Given the description of an element on the screen output the (x, y) to click on. 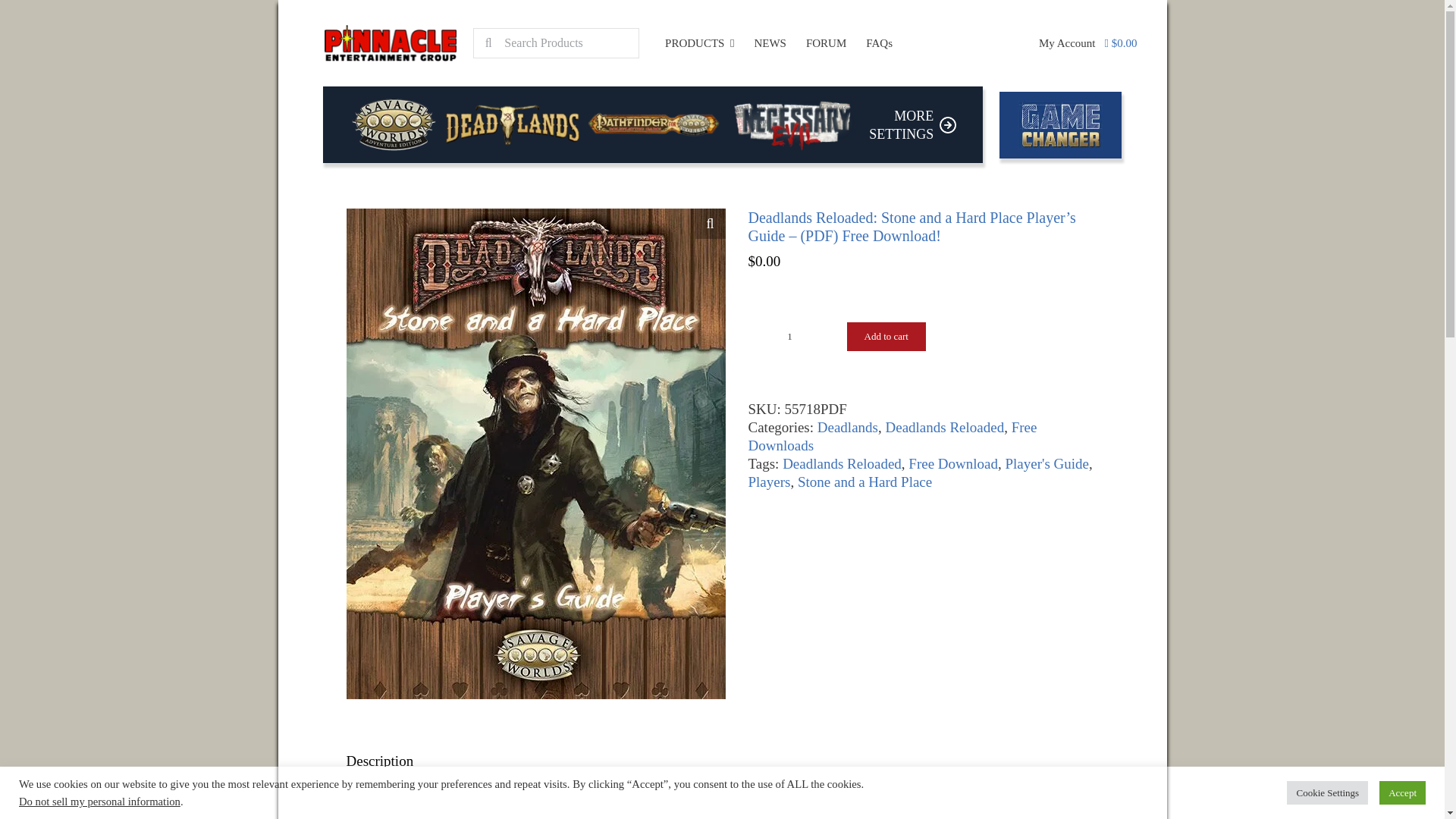
FORUM (826, 42)
1 (789, 336)
FAQs (879, 42)
My Account (1067, 42)
Start shopping (1121, 43)
PRODUCTS (722, 124)
DLR-Stone-and-a-Hard-Place-Players-Guide-1 (912, 125)
NEWS (699, 42)
